Given the description of an element on the screen output the (x, y) to click on. 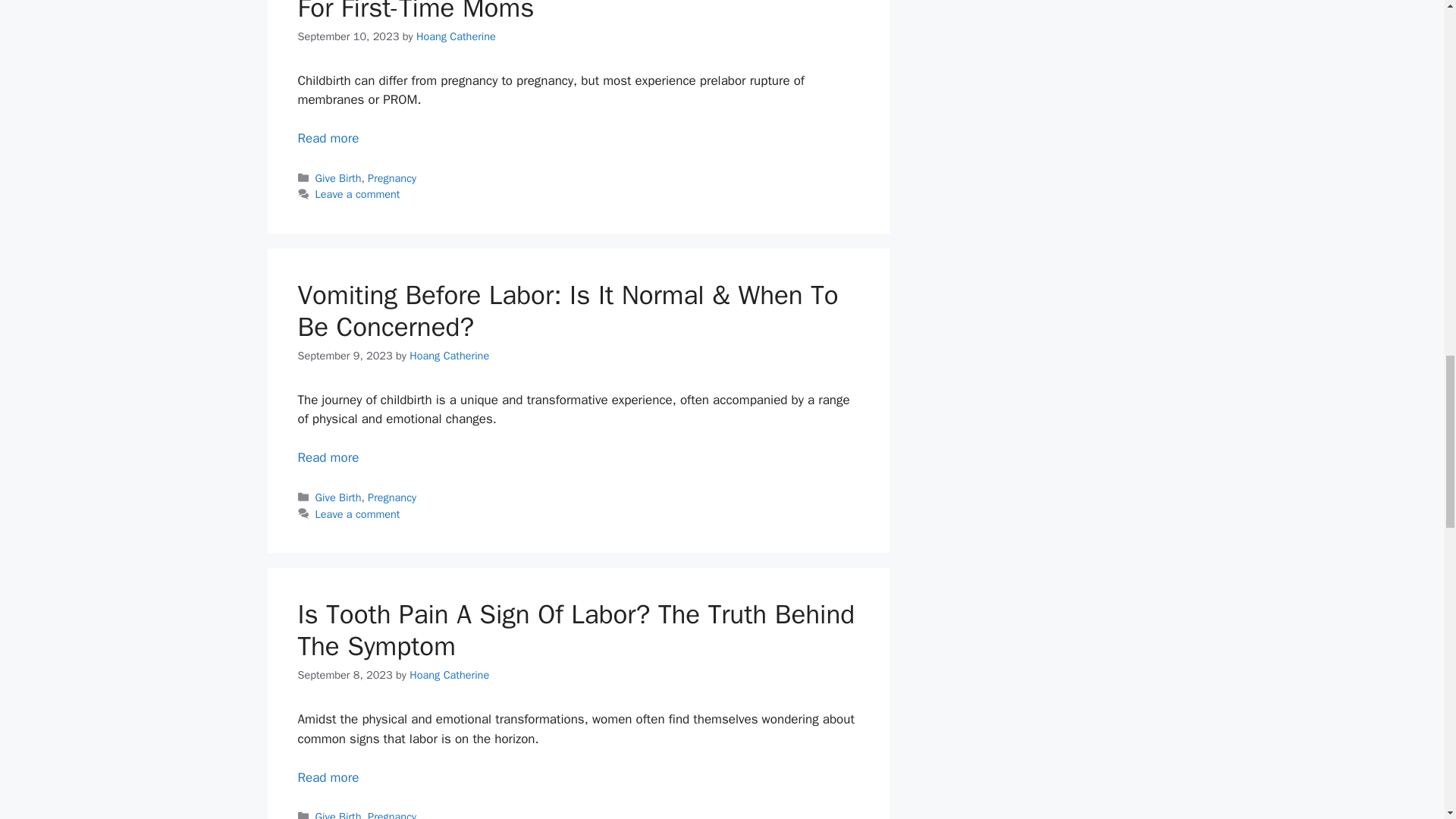
View all posts by Hoang Catherine (449, 674)
View all posts by Hoang Catherine (456, 36)
View all posts by Hoang Catherine (449, 355)
Is Tooth Pain A Sign Of Labor? The Truth Behind The Symptom (327, 777)
